Given the description of an element on the screen output the (x, y) to click on. 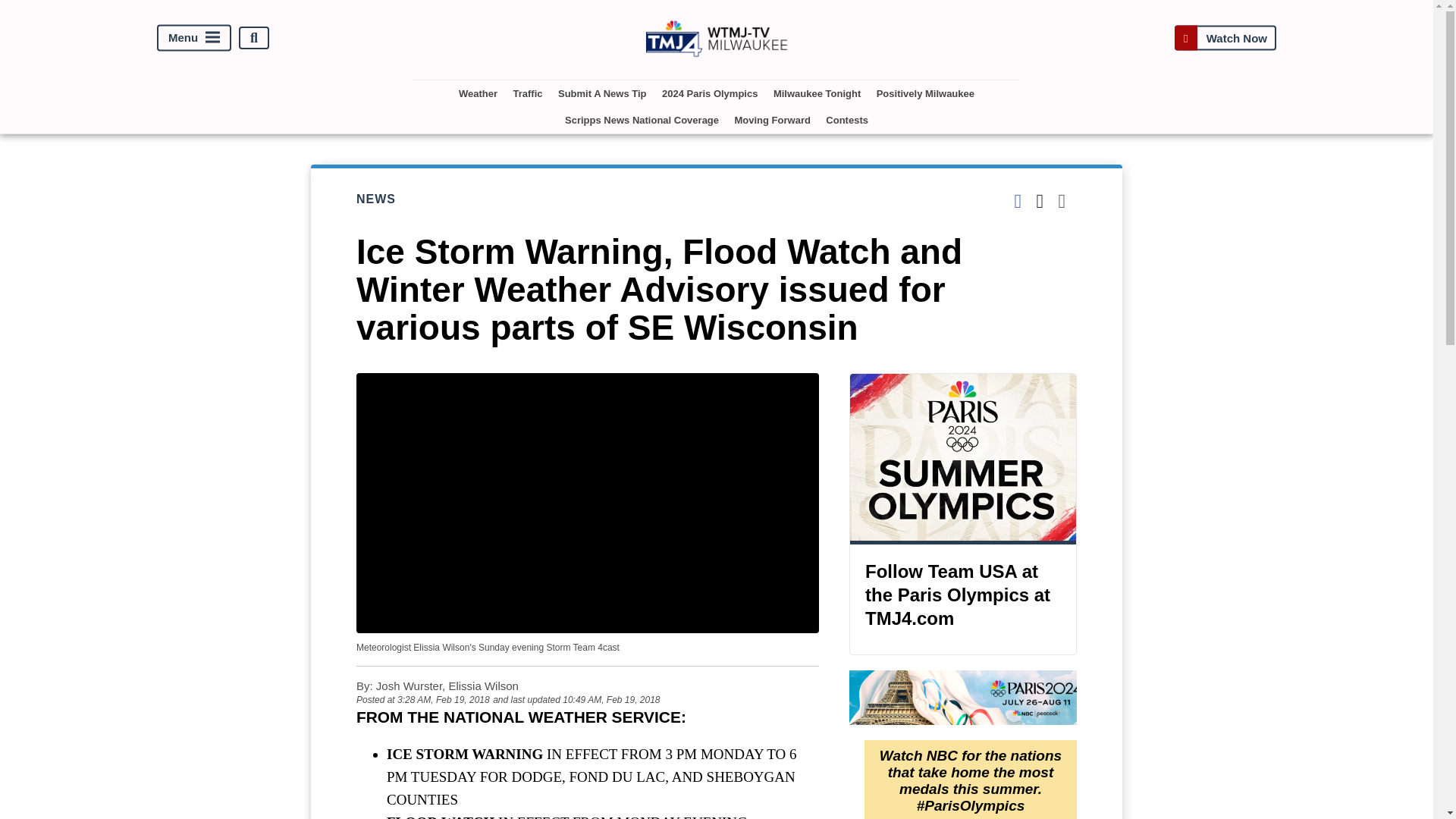
Watch Now (1224, 38)
Menu (194, 38)
